Given the description of an element on the screen output the (x, y) to click on. 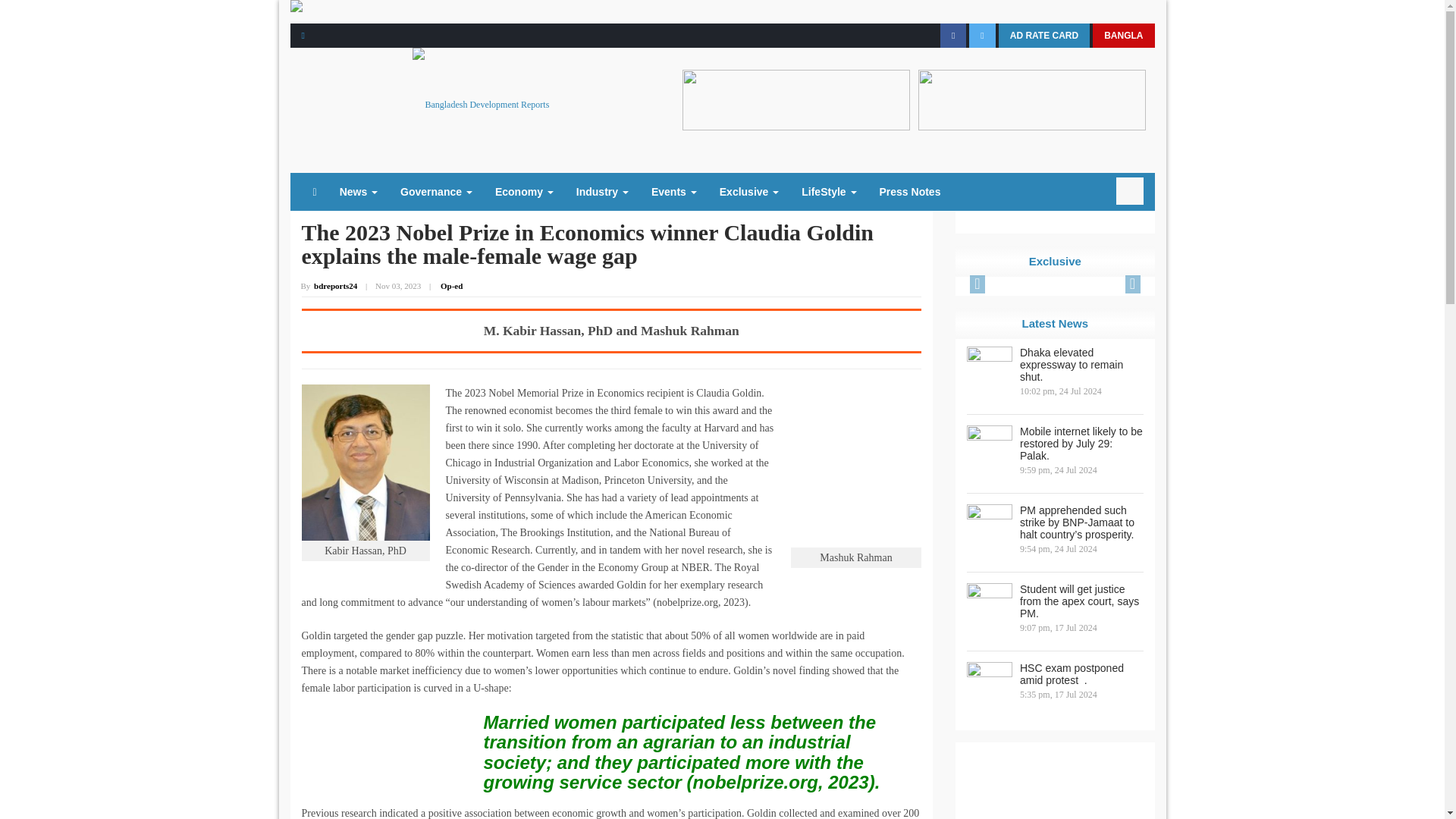
Industry (602, 191)
Economy (523, 191)
News (358, 191)
Industry (602, 191)
BANGLA (1123, 35)
Events (673, 191)
search (1129, 190)
AD RATE CARD (1043, 35)
News (358, 191)
Economy (523, 191)
Exclusive (748, 191)
Governance (435, 191)
Governance (435, 191)
